Given the description of an element on the screen output the (x, y) to click on. 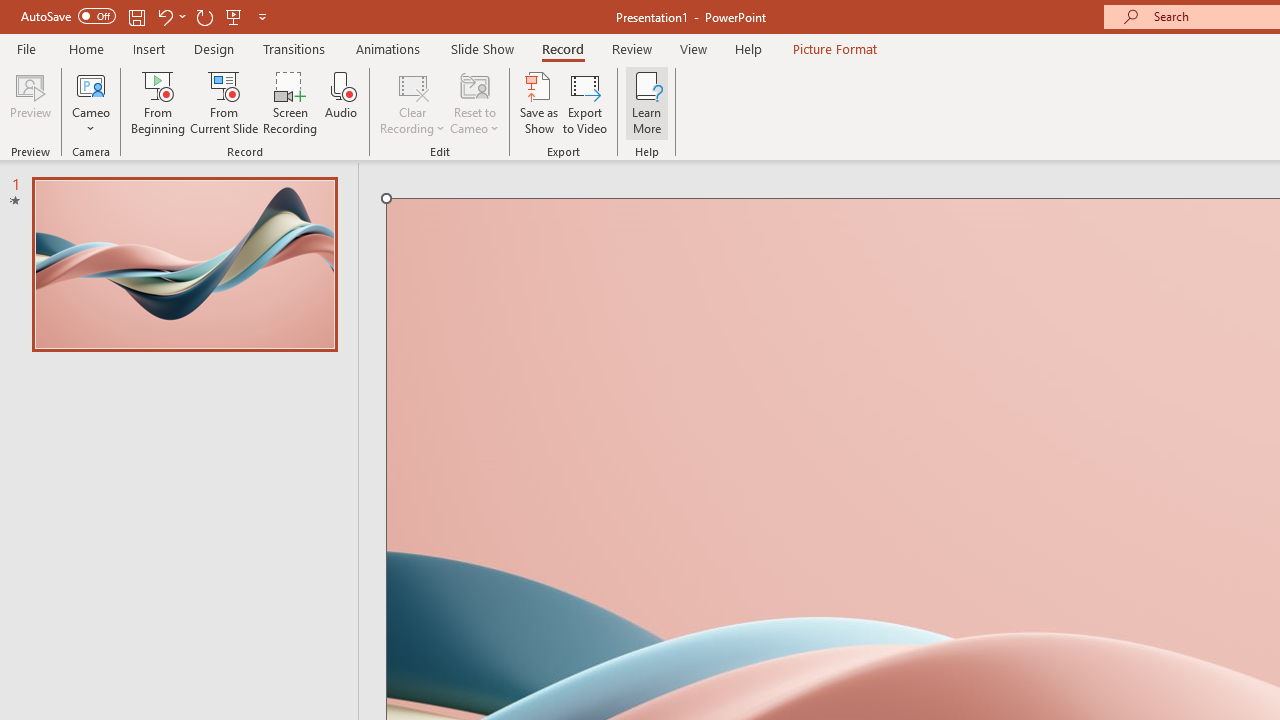
Preview (30, 102)
More Options (91, 121)
Save (136, 15)
Help (748, 48)
Clear Recording (412, 102)
Audio (341, 102)
Screen Recording (290, 102)
Export to Video (585, 102)
Save as Show (539, 102)
Animations (388, 48)
